Given the description of an element on the screen output the (x, y) to click on. 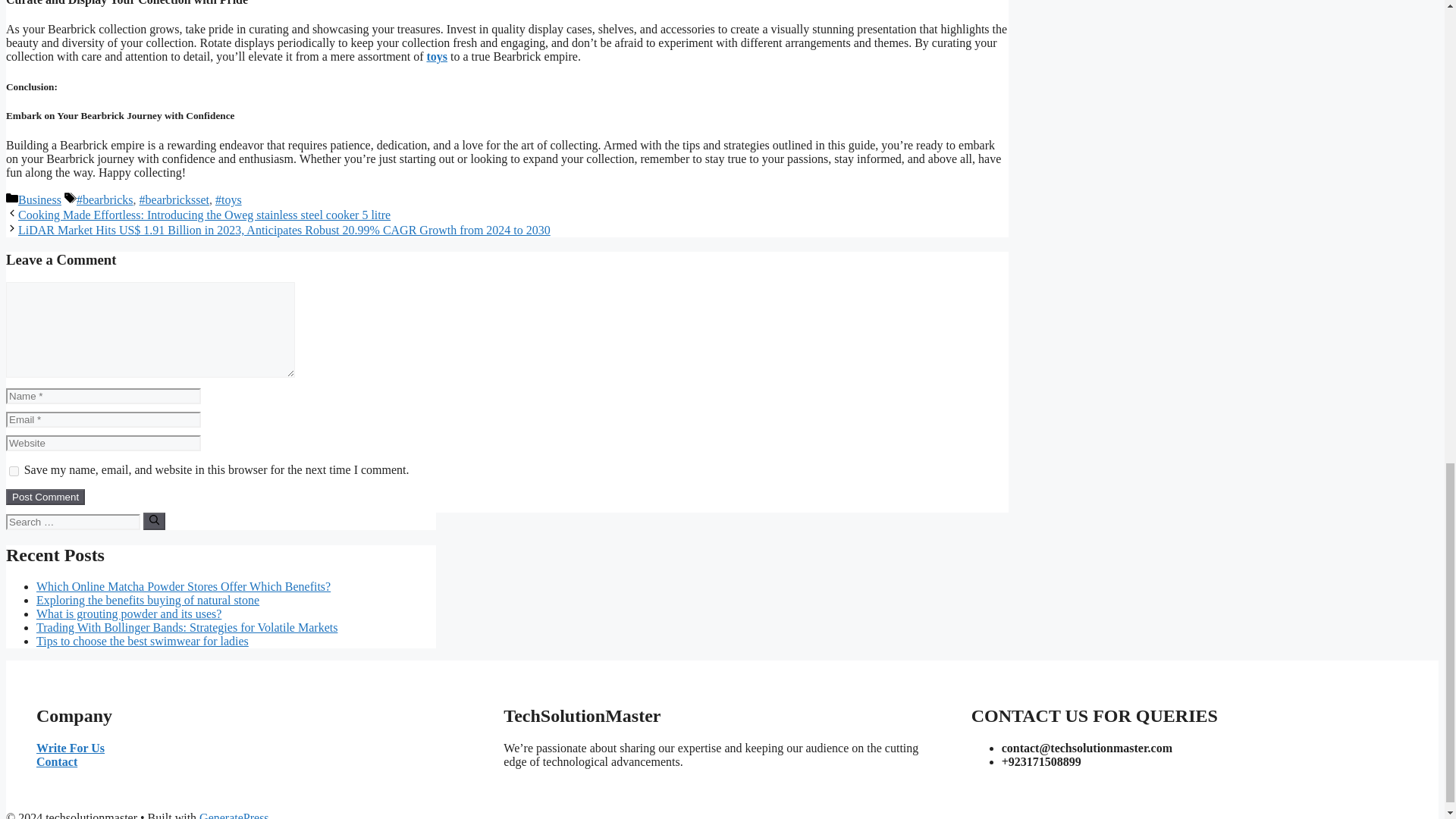
Post Comment (44, 496)
Post Comment (44, 496)
What is grouting powder and its uses? (128, 613)
Search for: (72, 521)
Tips to choose the best swimwear for ladies (142, 640)
Exploring the benefits buying of natural stone (147, 599)
Which Online Matcha Powder Stores Offer Which Benefits? (183, 585)
Contact (56, 761)
toys (436, 56)
Business (39, 199)
Write For Us (70, 748)
yes (13, 470)
